Given the description of an element on the screen output the (x, y) to click on. 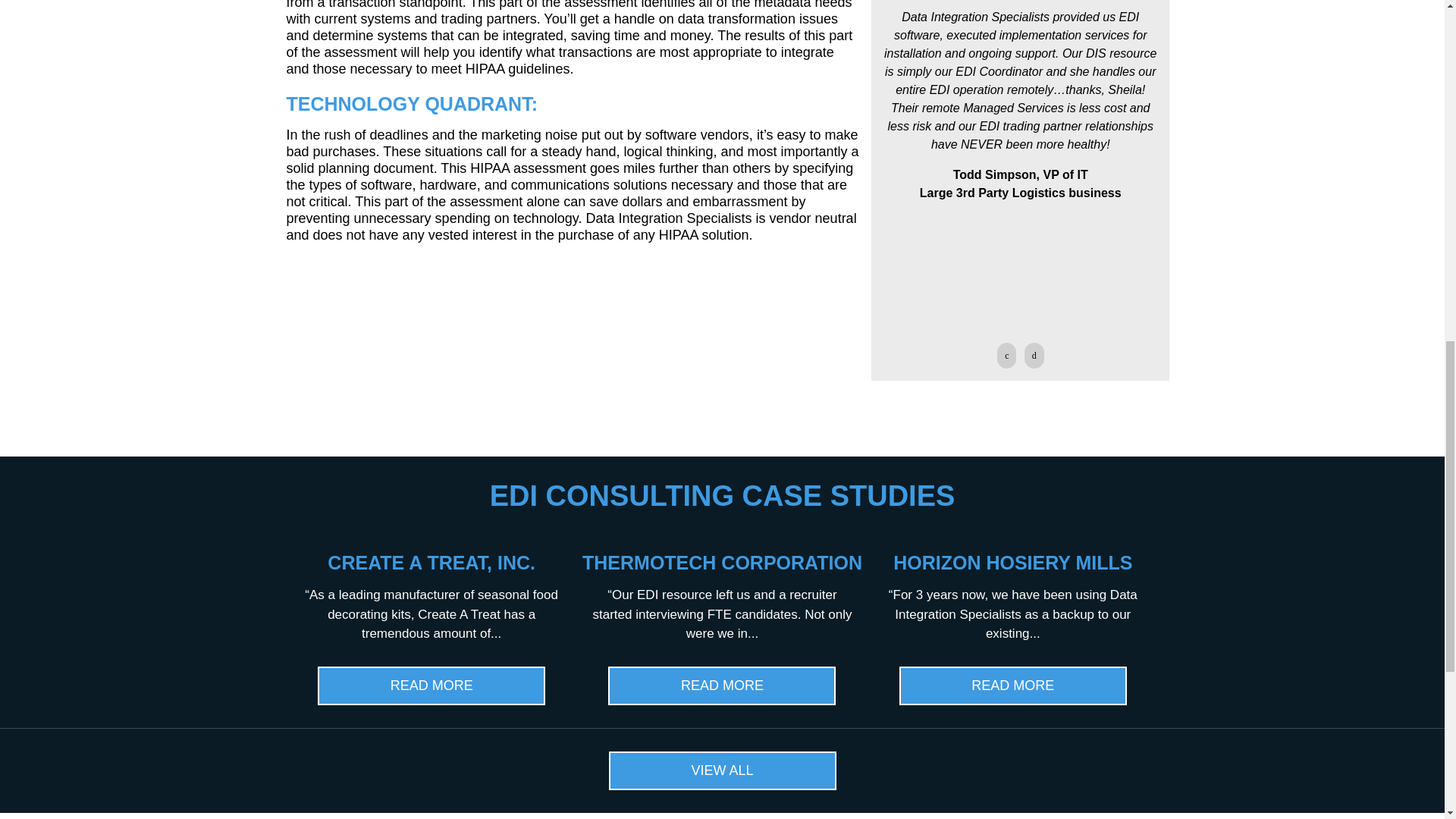
HORIZON HOSIERY MILLS (1012, 562)
CREATE A TREAT, INC. (431, 562)
READ MORE (721, 685)
READ MORE (1012, 685)
THERMOTECH CORPORATION (721, 562)
VIEW ALL (721, 770)
READ MORE (430, 685)
